Given the description of an element on the screen output the (x, y) to click on. 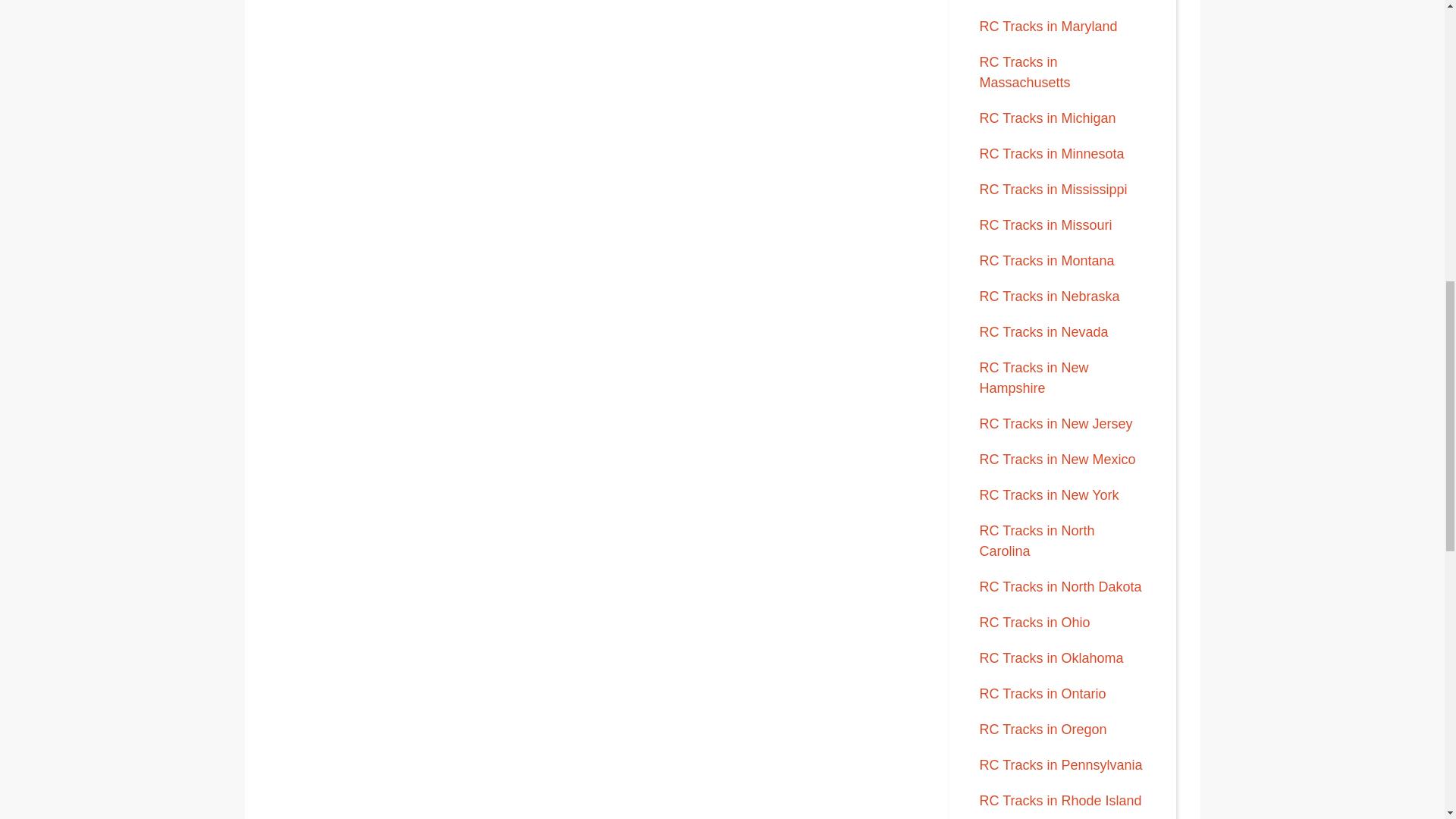
RC Tracks in Mississippi (1052, 189)
RC Tracks in Massachusetts (1024, 72)
RC Tracks in Maryland (1048, 26)
RC Tracks in Minnesota (1051, 153)
RC Tracks in Michigan (1047, 118)
Scroll back to top (1406, 720)
